Given the description of an element on the screen output the (x, y) to click on. 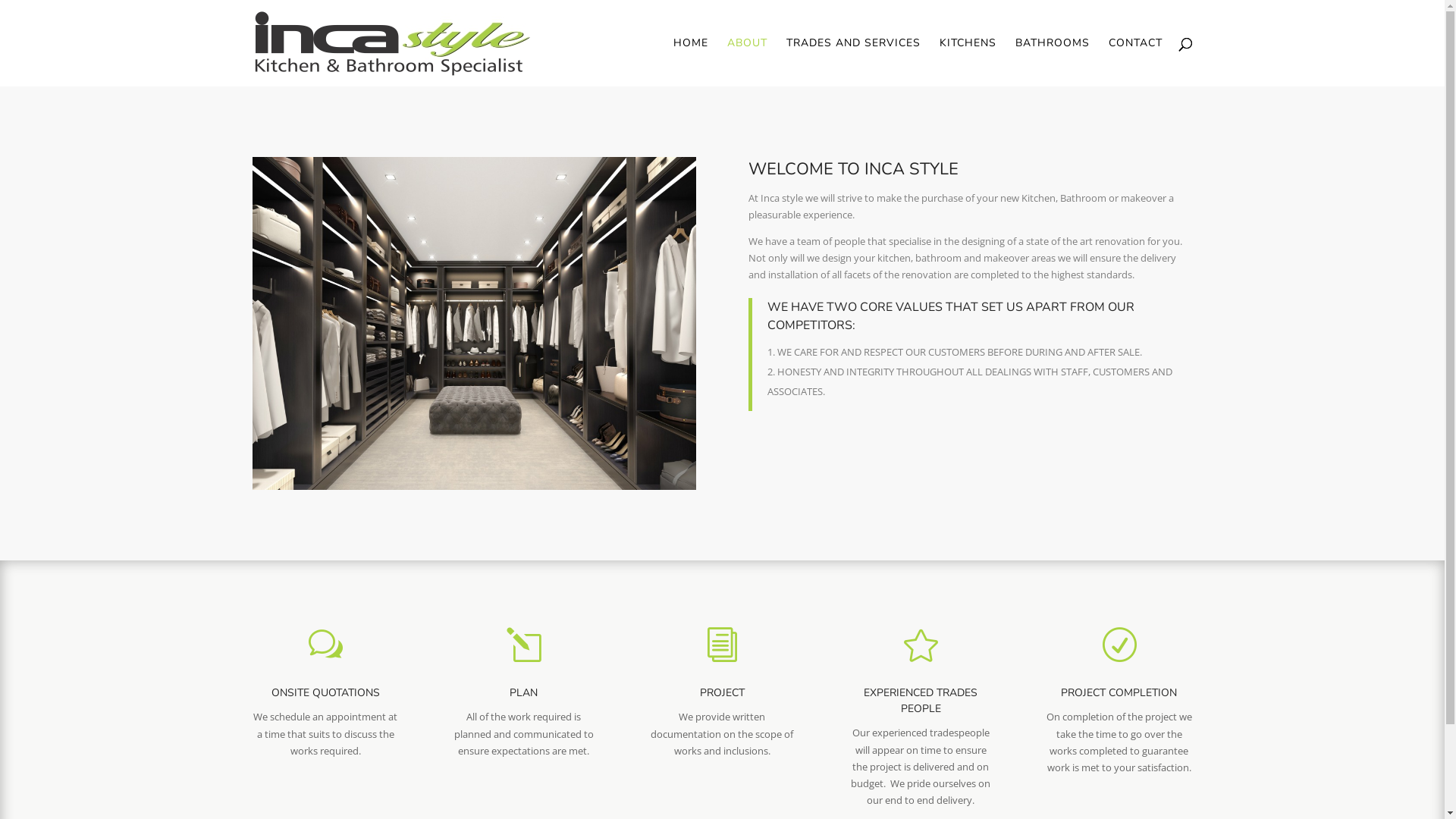
BATHROOMS Element type: text (1051, 61)
TRADES AND SERVICES Element type: text (852, 61)
KITCHENS Element type: text (966, 61)
HOME Element type: text (690, 61)
CONTACT Element type: text (1135, 61)
ABOUT Element type: text (746, 61)
